Given the description of an element on the screen output the (x, y) to click on. 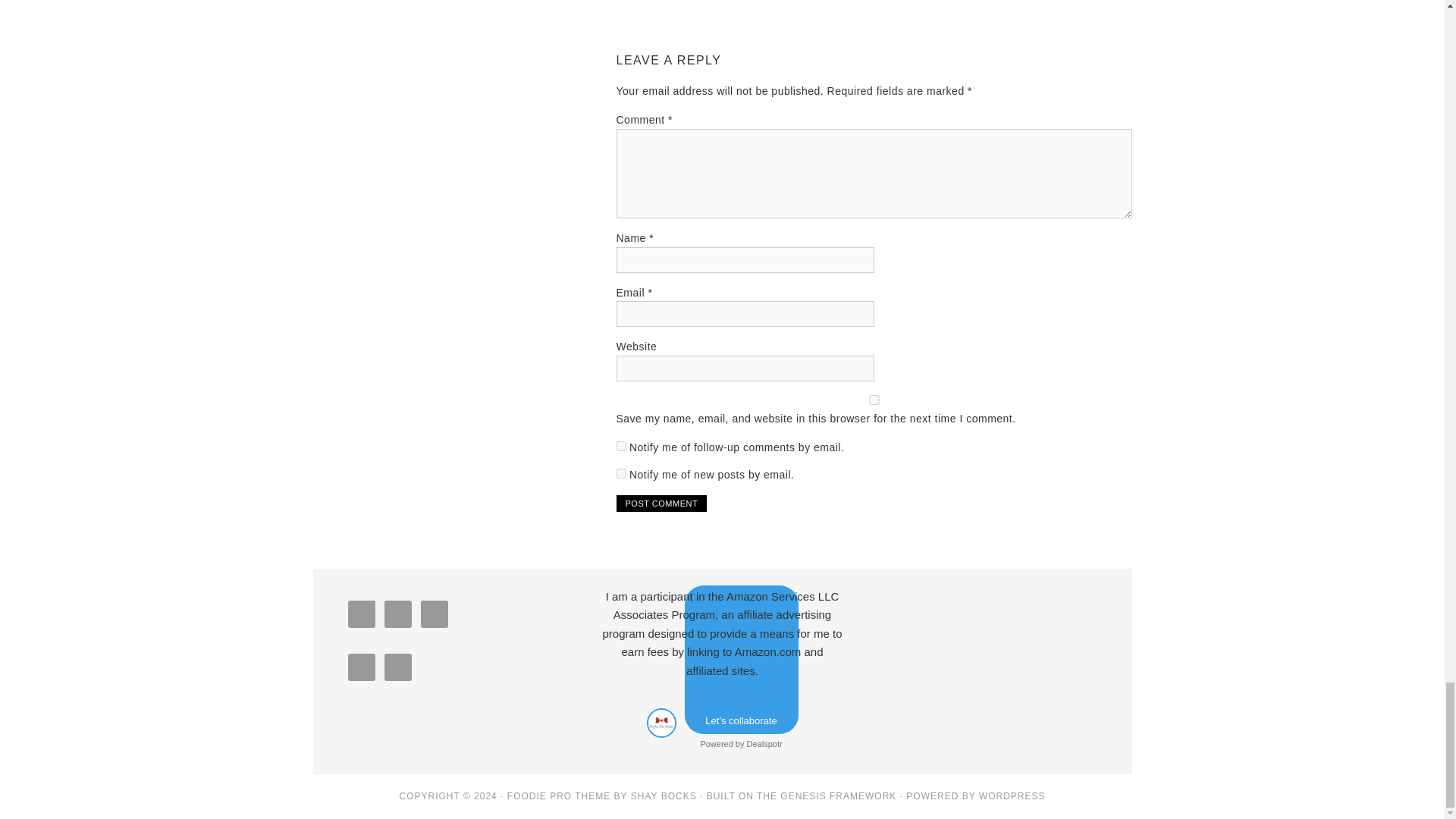
subscribe (620, 446)
subscribe (620, 473)
Post Comment (660, 503)
yes (873, 399)
